Given the description of an element on the screen output the (x, y) to click on. 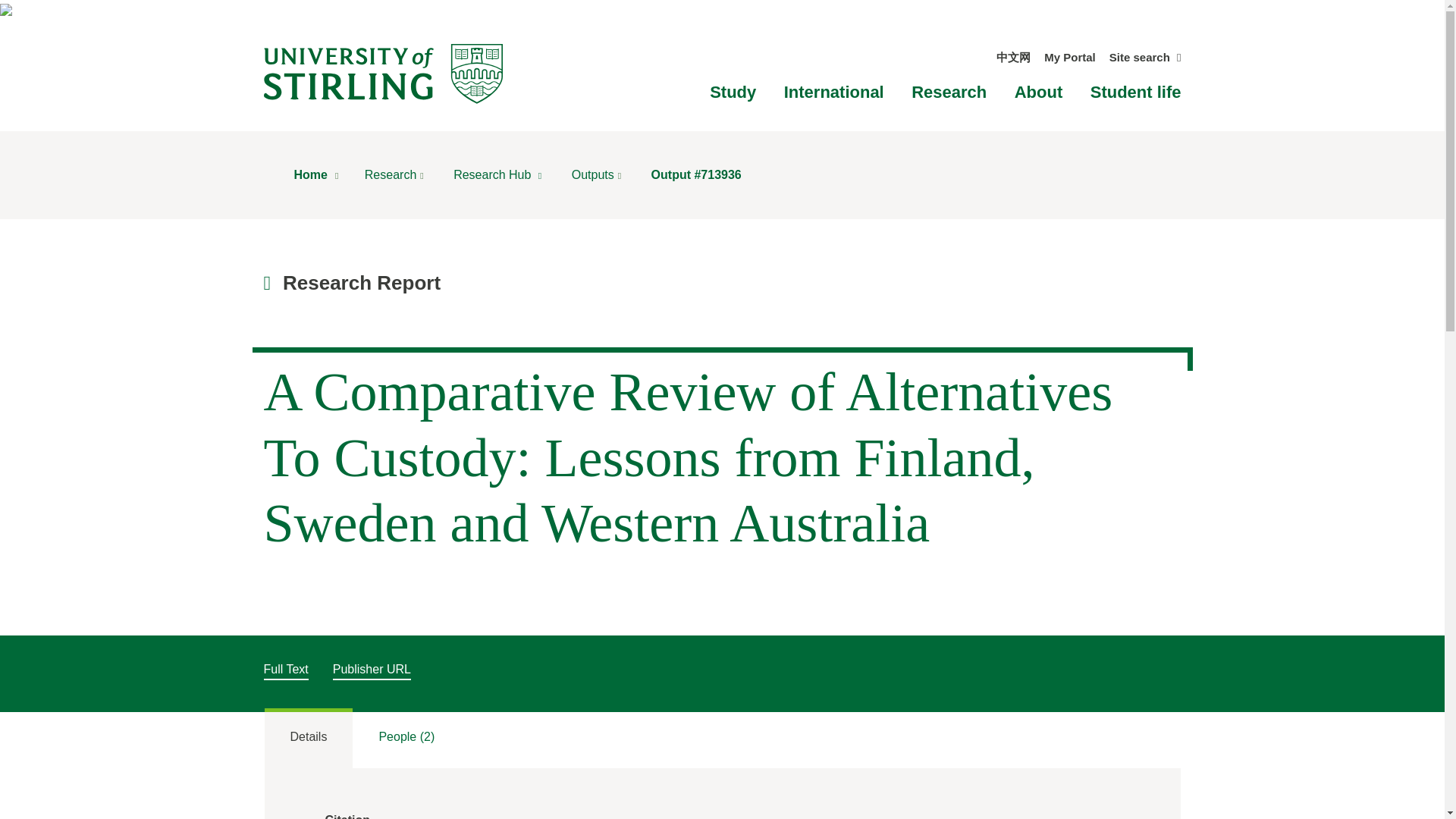
About (1038, 91)
Research (949, 91)
University of Stirling (382, 72)
International (833, 91)
Site search (1144, 56)
Study (732, 91)
Student life (1135, 91)
My Portal (1069, 56)
